Given the description of an element on the screen output the (x, y) to click on. 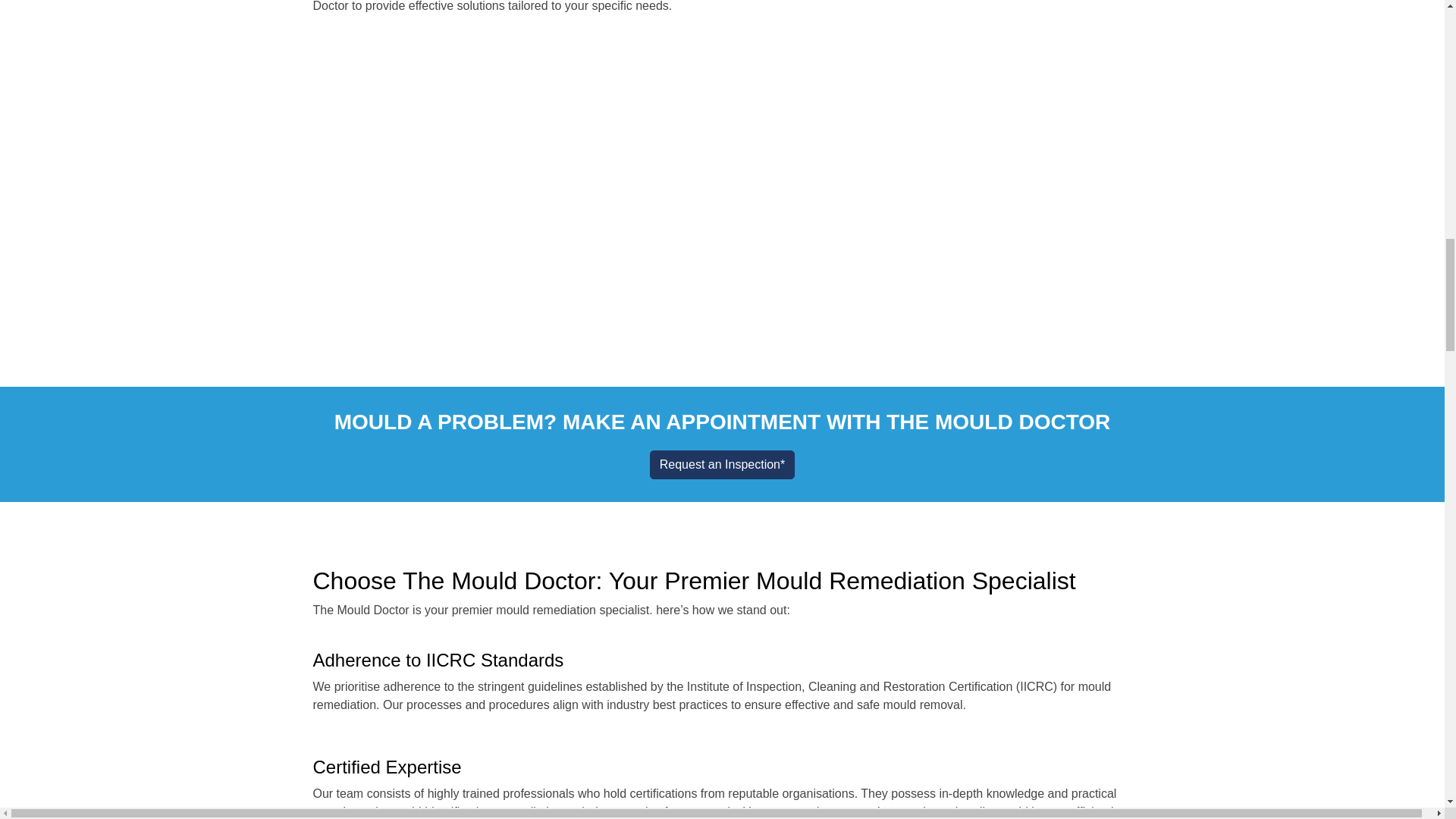
Caz (932, 7)
Readings (441, 170)
Review (1002, 170)
Cleaning2 (721, 170)
